Given the description of an element on the screen output the (x, y) to click on. 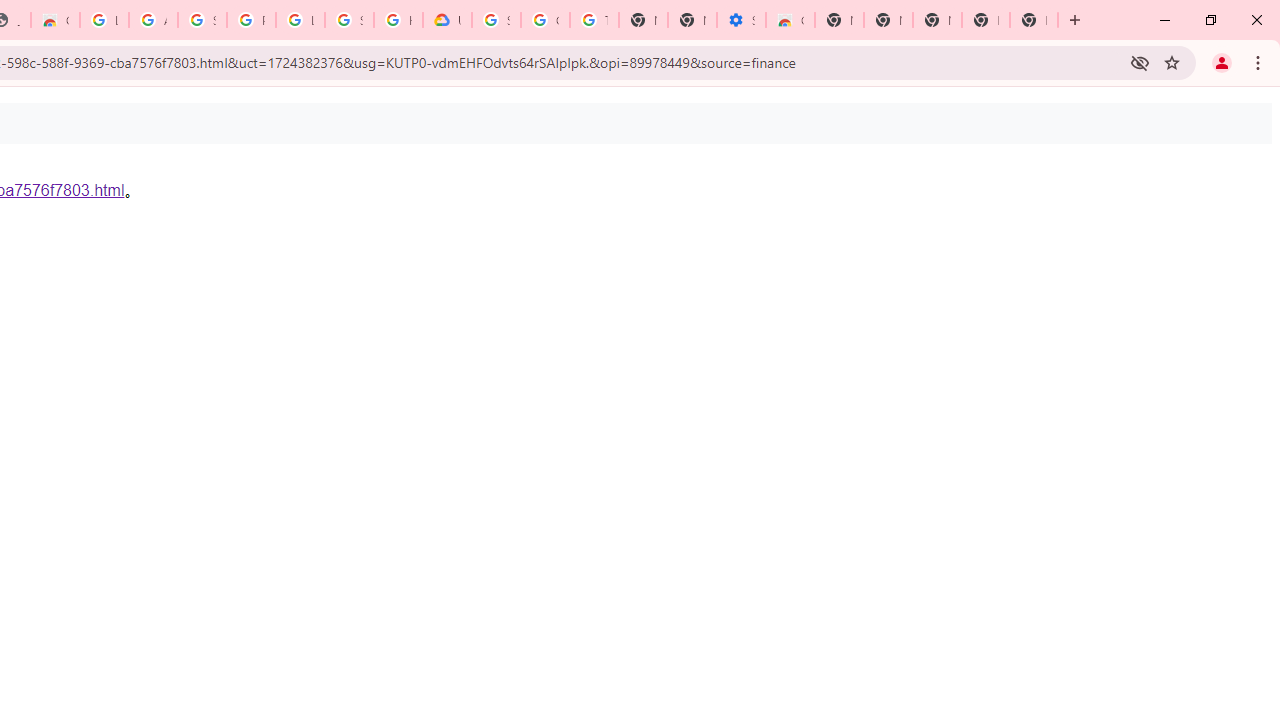
Ad Settings (153, 20)
Sign in - Google Accounts (496, 20)
Sign in - Google Accounts (201, 20)
